Given the description of an element on the screen output the (x, y) to click on. 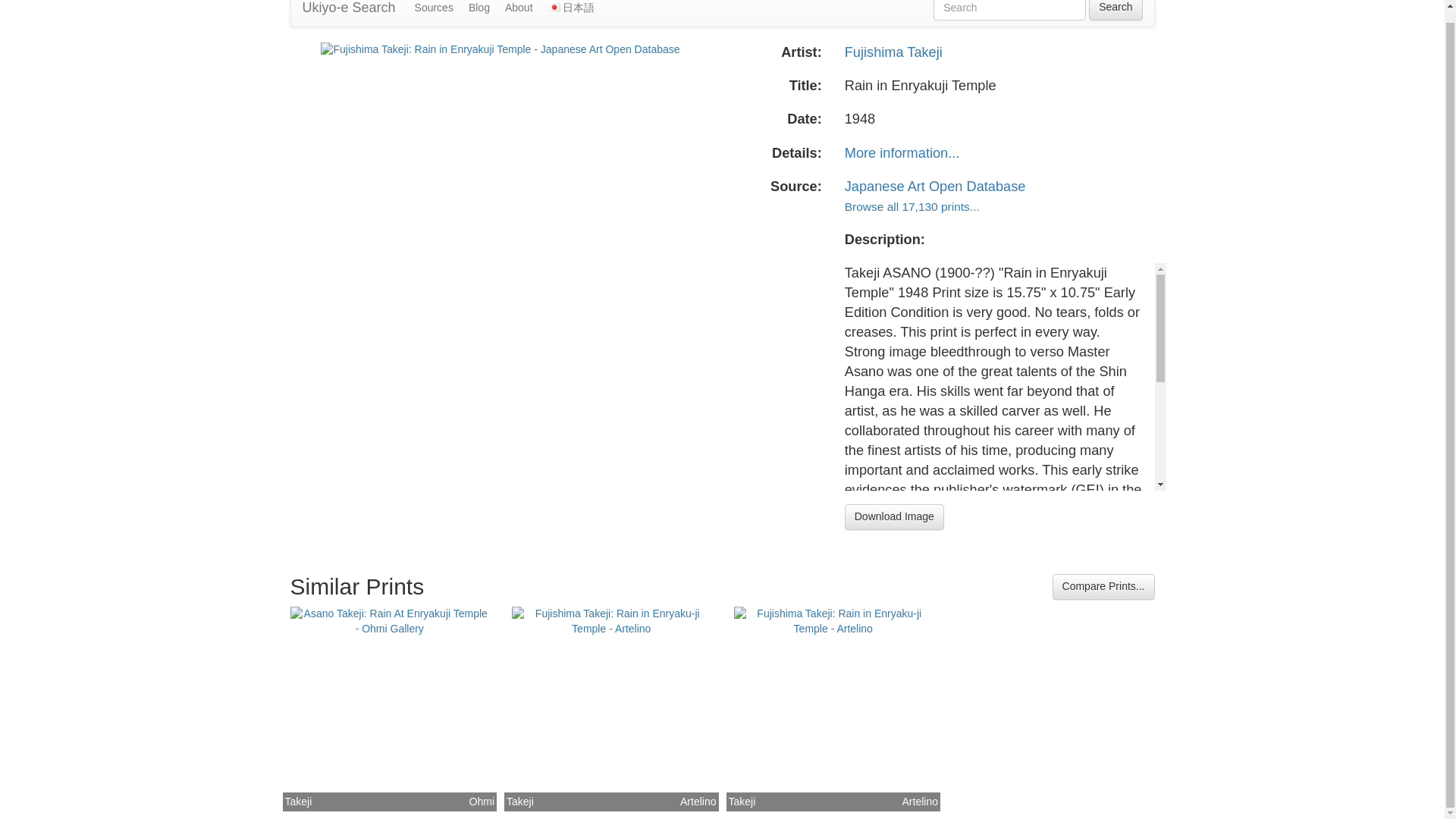
Compare Prints... (1103, 586)
Artelino (919, 801)
Asano Takeji (299, 800)
Fujishima Takeji (520, 800)
Search (1115, 10)
Sources (434, 13)
Blog (479, 13)
Takeji (520, 800)
Ukiyo-e Search (349, 13)
Artelino (697, 801)
